Given the description of an element on the screen output the (x, y) to click on. 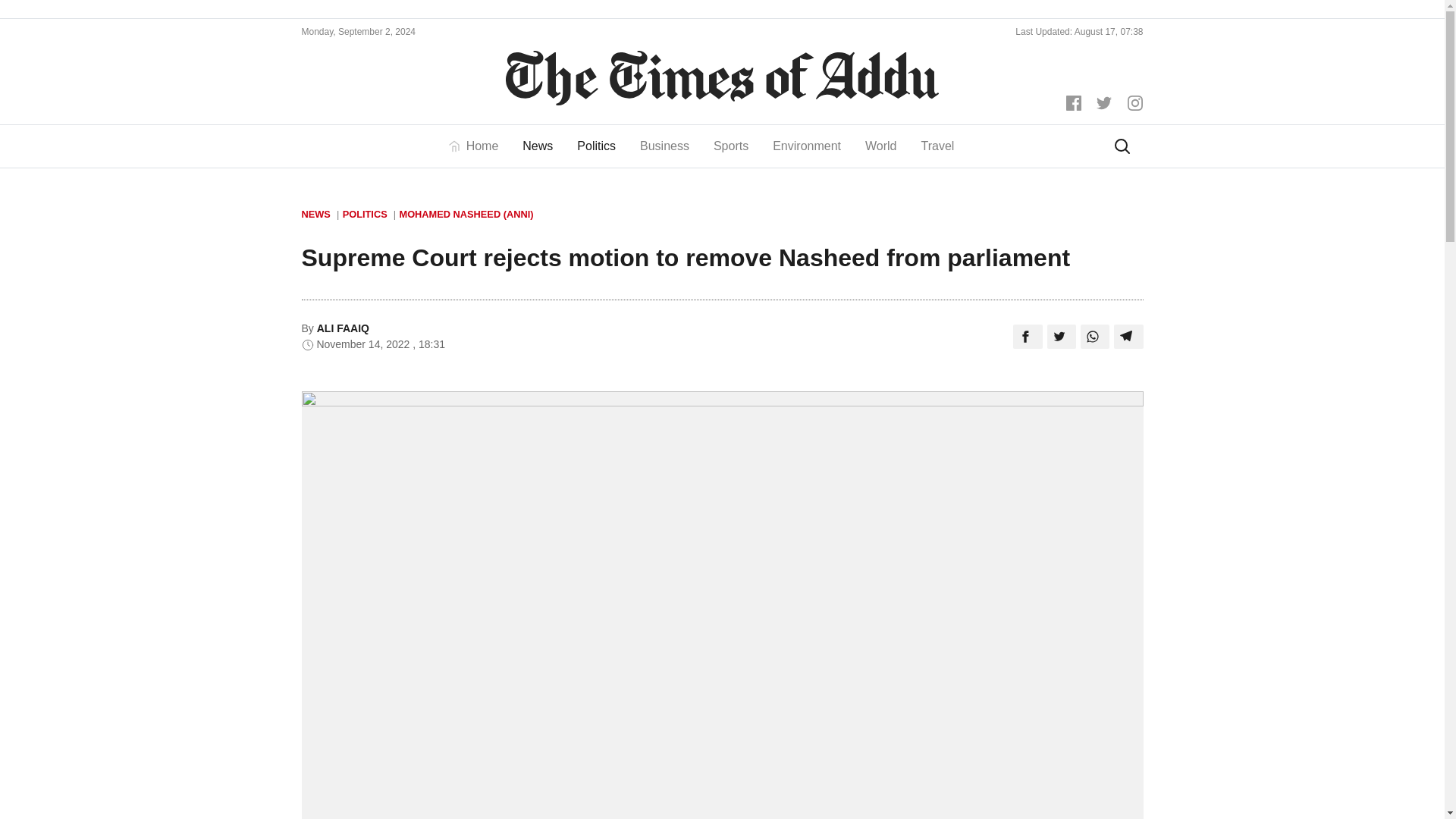
Business (664, 146)
Travel (937, 146)
Sports (730, 146)
NEWS (320, 214)
Travel (937, 146)
Home (479, 146)
Environment (806, 146)
News (537, 146)
ALI FAAIQ (343, 328)
POLITICS (369, 214)
